Given the description of an element on the screen output the (x, y) to click on. 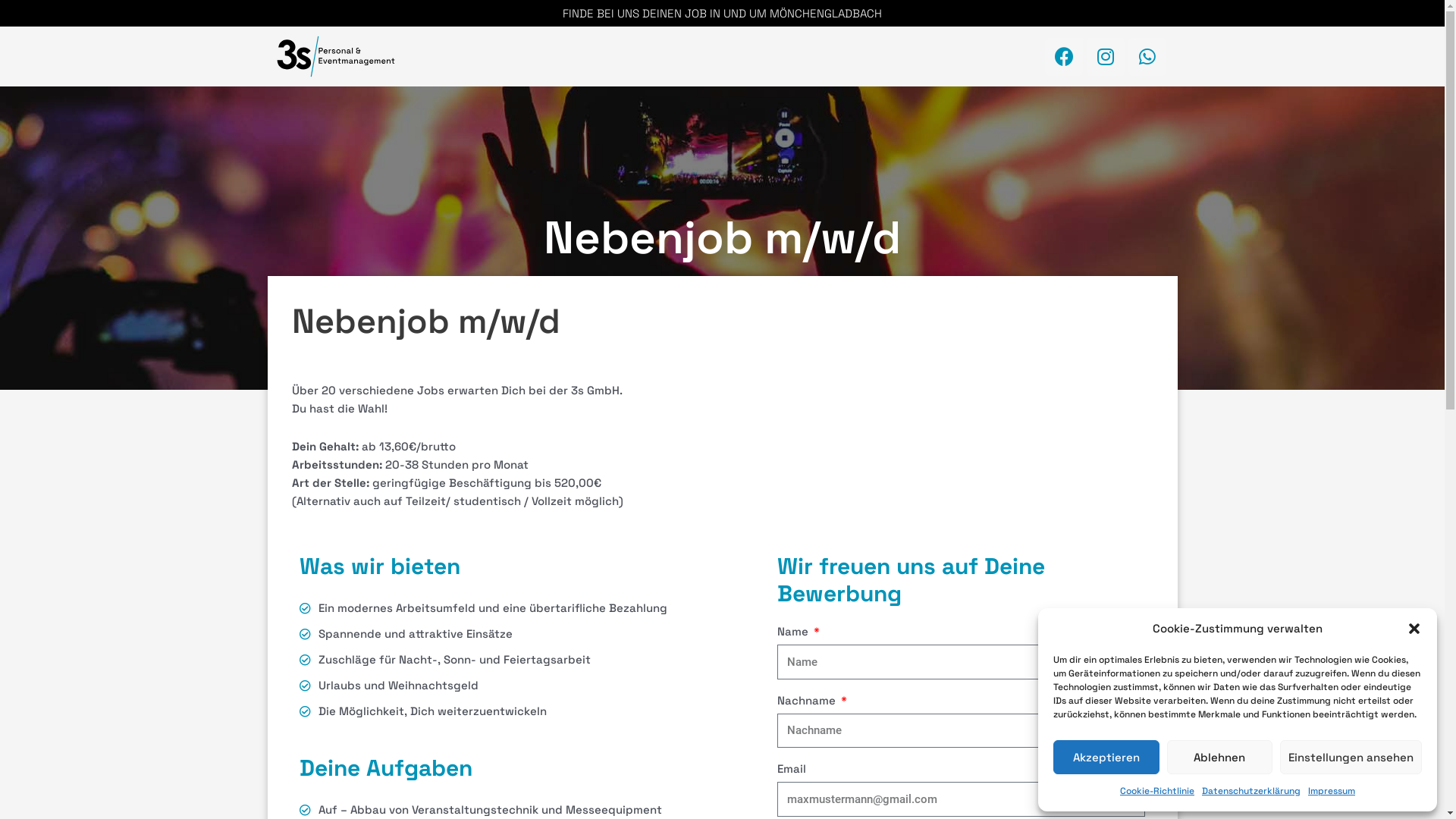
Ablehnen Element type: text (1219, 757)
Impressum Element type: text (1331, 790)
Cookie-Richtlinie Element type: text (1157, 790)
Akzeptieren Element type: text (1106, 757)
Einstellungen ansehen Element type: text (1350, 757)
